Given the description of an element on the screen output the (x, y) to click on. 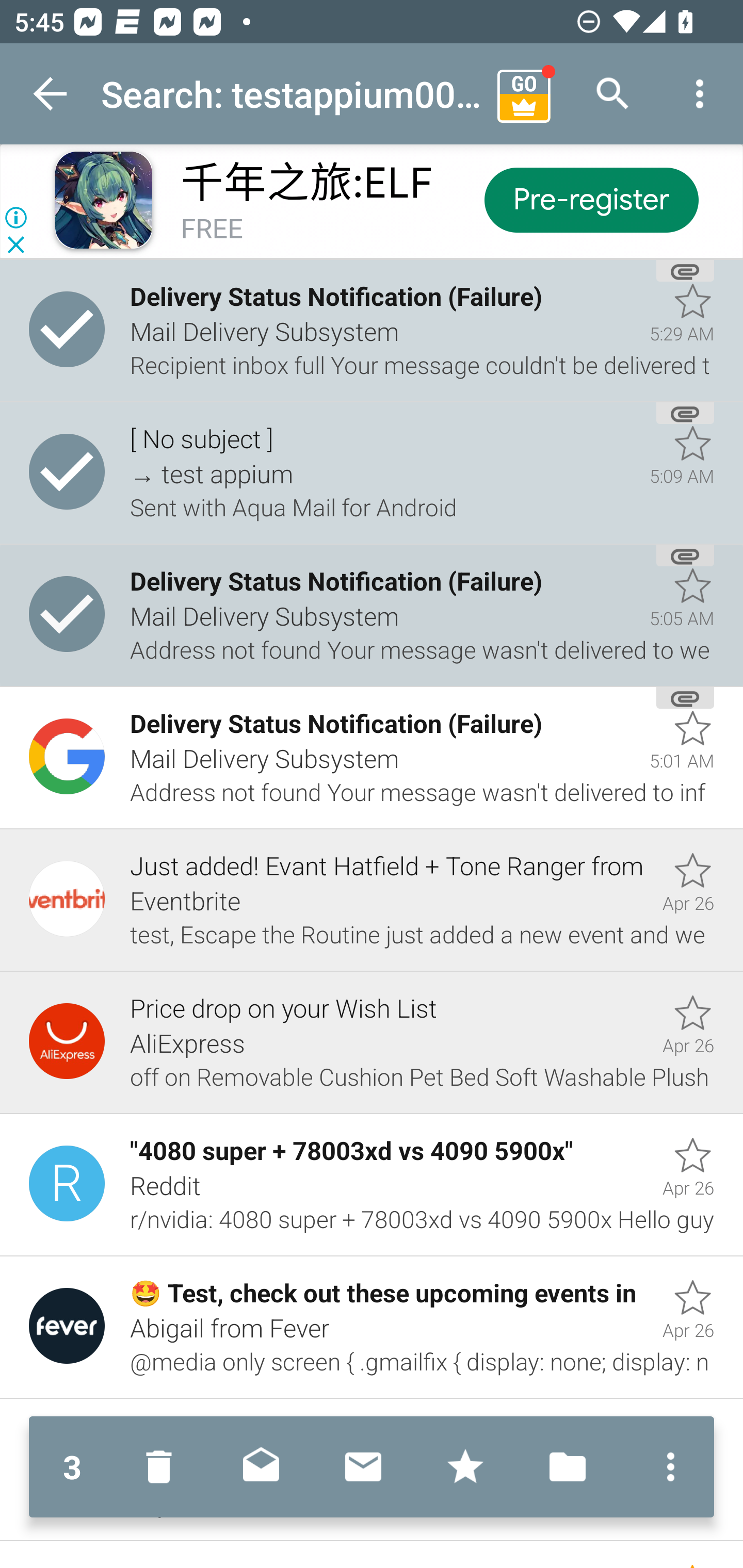
Navigate up (50, 93)
Search (612, 93)
More options (699, 93)
千年之旅:ELF (306, 183)
Pre-register (590, 199)
FREE (211, 230)
3 3 messages (71, 1466)
Move to Deleted (162, 1466)
Mark read (261, 1466)
Mark unread (363, 1466)
Mark with stars (465, 1466)
Move to folder… (567, 1466)
More options (666, 1466)
